Given the description of an element on the screen output the (x, y) to click on. 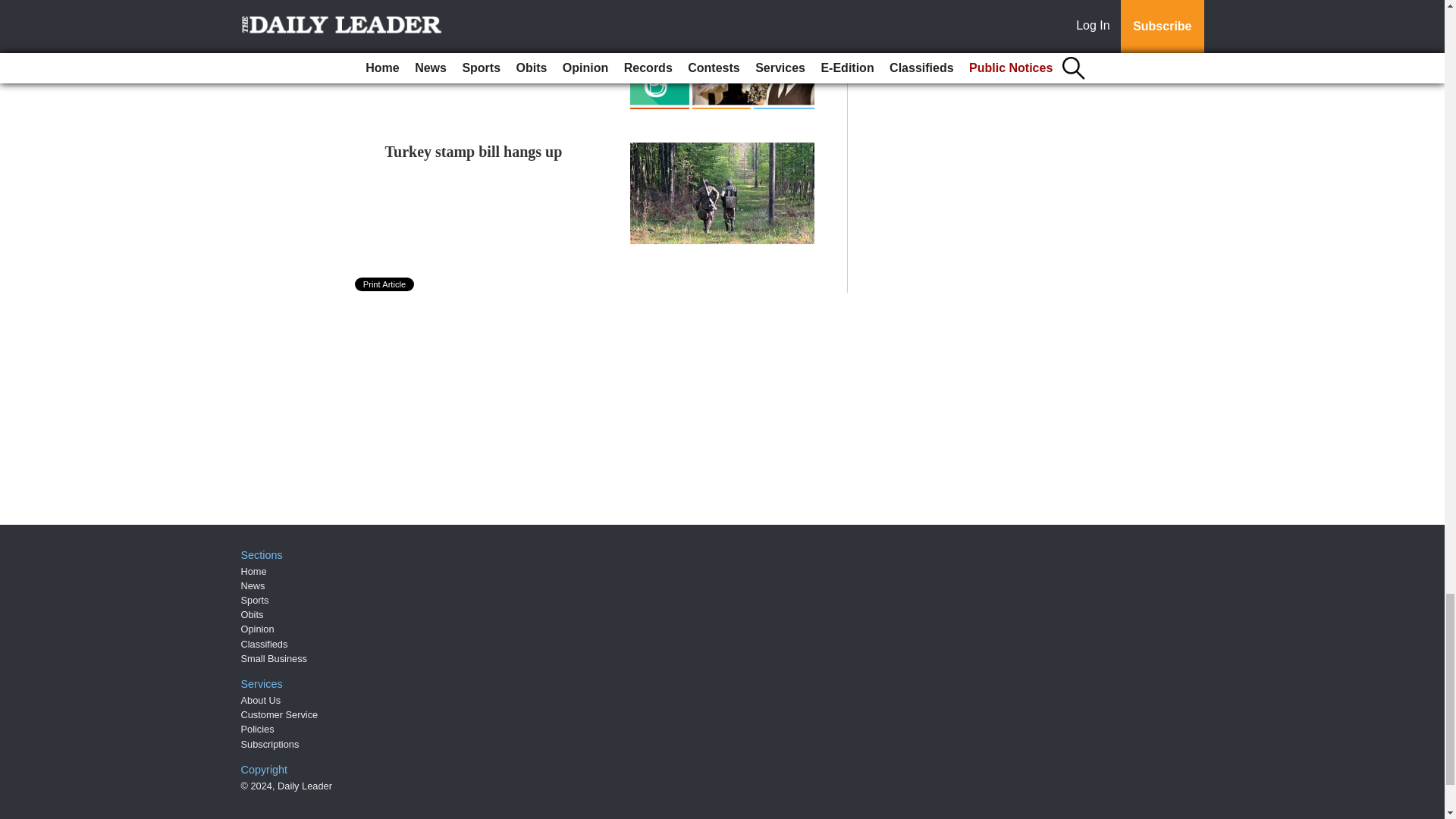
Turkey stamp bill hangs up (473, 151)
Print Article (384, 284)
Turkey stamp bill hangs up (473, 151)
